Given the description of an element on the screen output the (x, y) to click on. 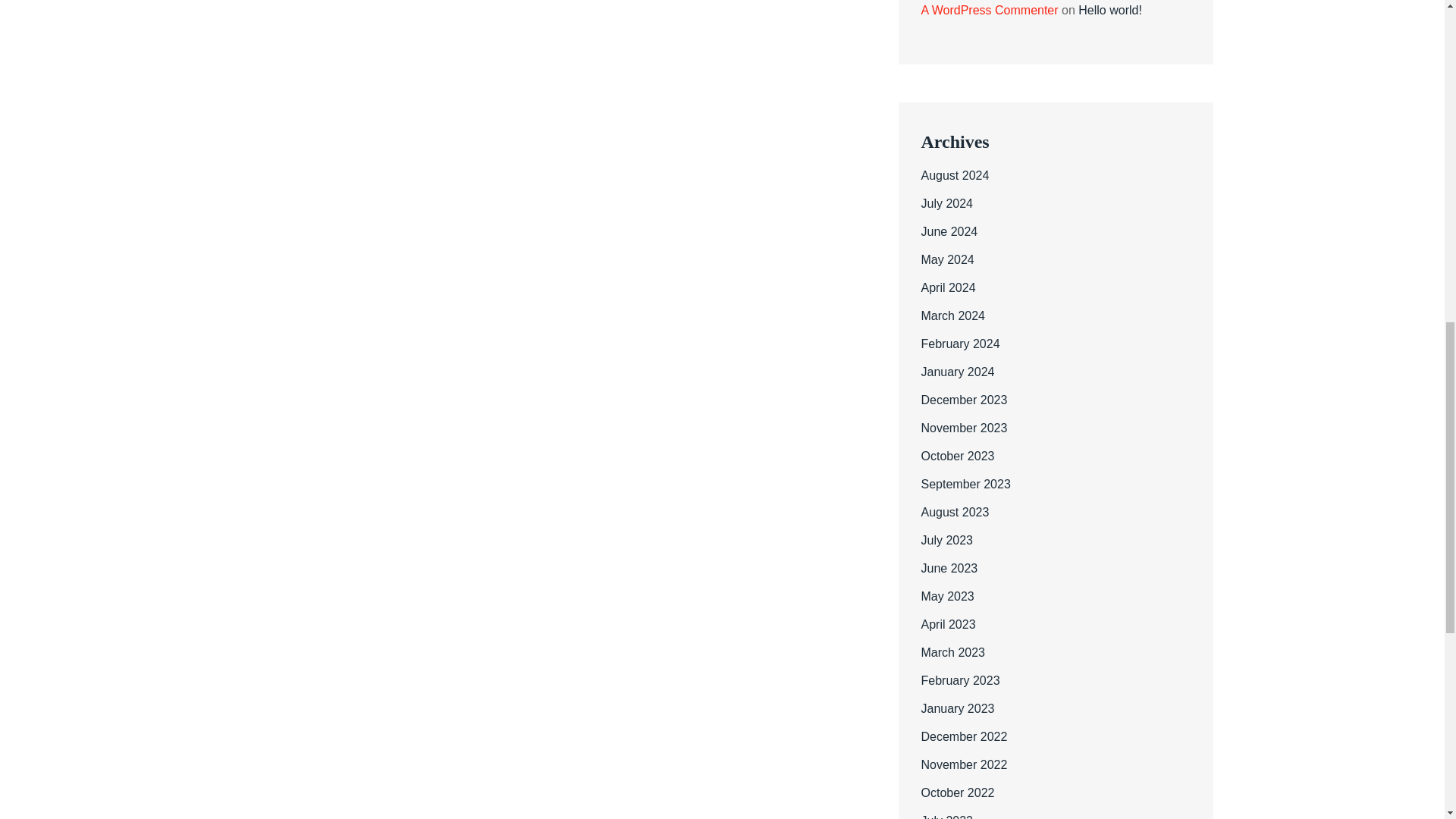
February 2024 (959, 343)
November 2023 (963, 427)
February 2023 (959, 680)
March 2023 (952, 652)
September 2023 (965, 483)
Hello world! (1109, 10)
October 2023 (957, 455)
June 2024 (948, 231)
January 2024 (957, 371)
July 2024 (946, 203)
August 2023 (954, 512)
A WordPress Commenter (989, 10)
March 2024 (952, 315)
June 2023 (948, 567)
August 2024 (954, 174)
